Given the description of an element on the screen output the (x, y) to click on. 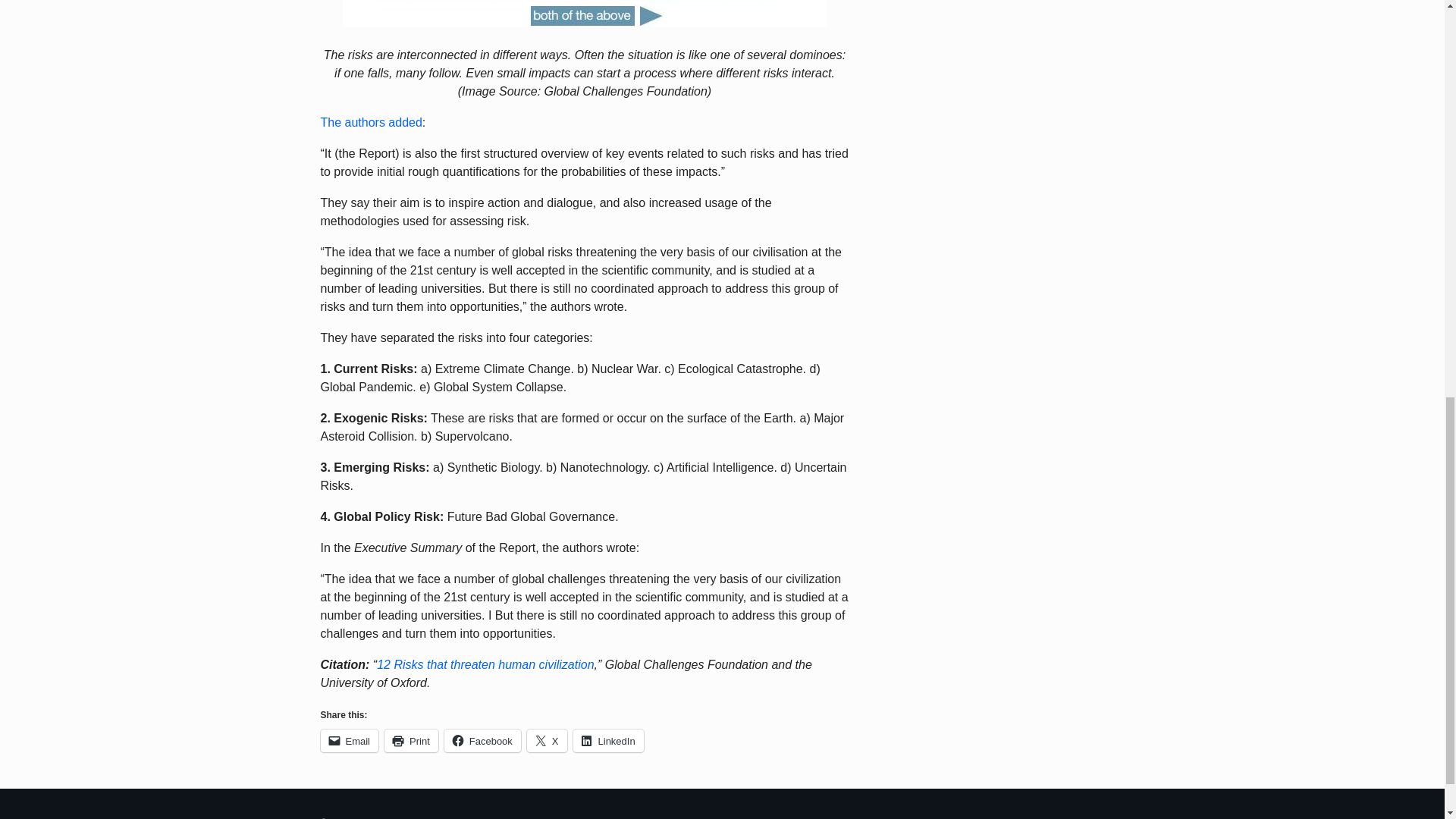
Click to print (411, 740)
Email (349, 740)
Click to share on LinkedIn (608, 740)
X (547, 740)
Click to email a link to a friend (349, 740)
The authors added (371, 122)
Facebook (482, 740)
Click to share on Facebook (482, 740)
LinkedIn (608, 740)
12 Risks that threaten human civilization (485, 664)
Click to share on X (547, 740)
Print (411, 740)
